Given the description of an element on the screen output the (x, y) to click on. 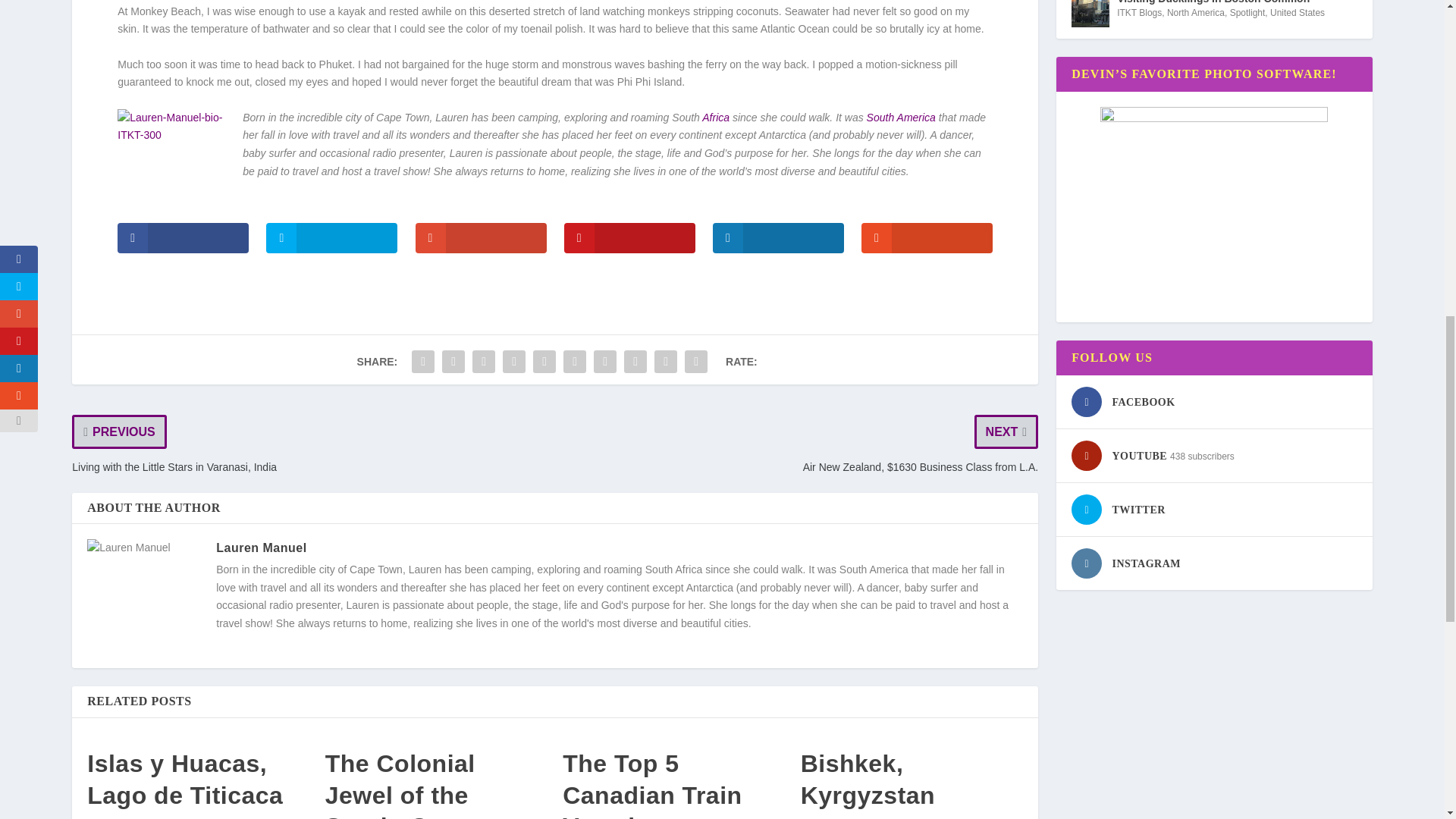
Lauren-Manuel-bio-ITKT-300 (174, 165)
